Given the description of an element on the screen output the (x, y) to click on. 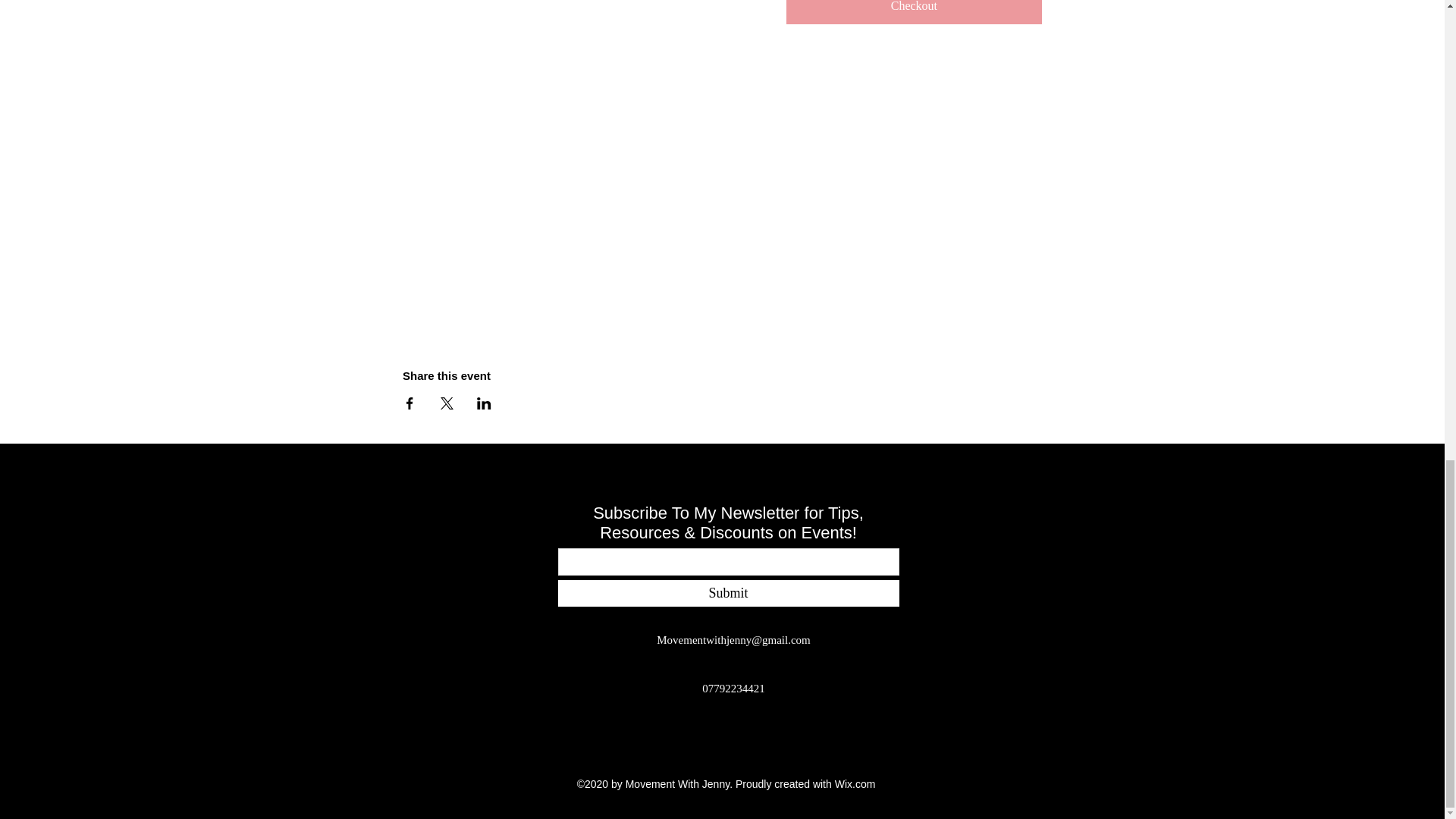
Submit (728, 592)
Checkout (914, 12)
